Given the description of an element on the screen output the (x, y) to click on. 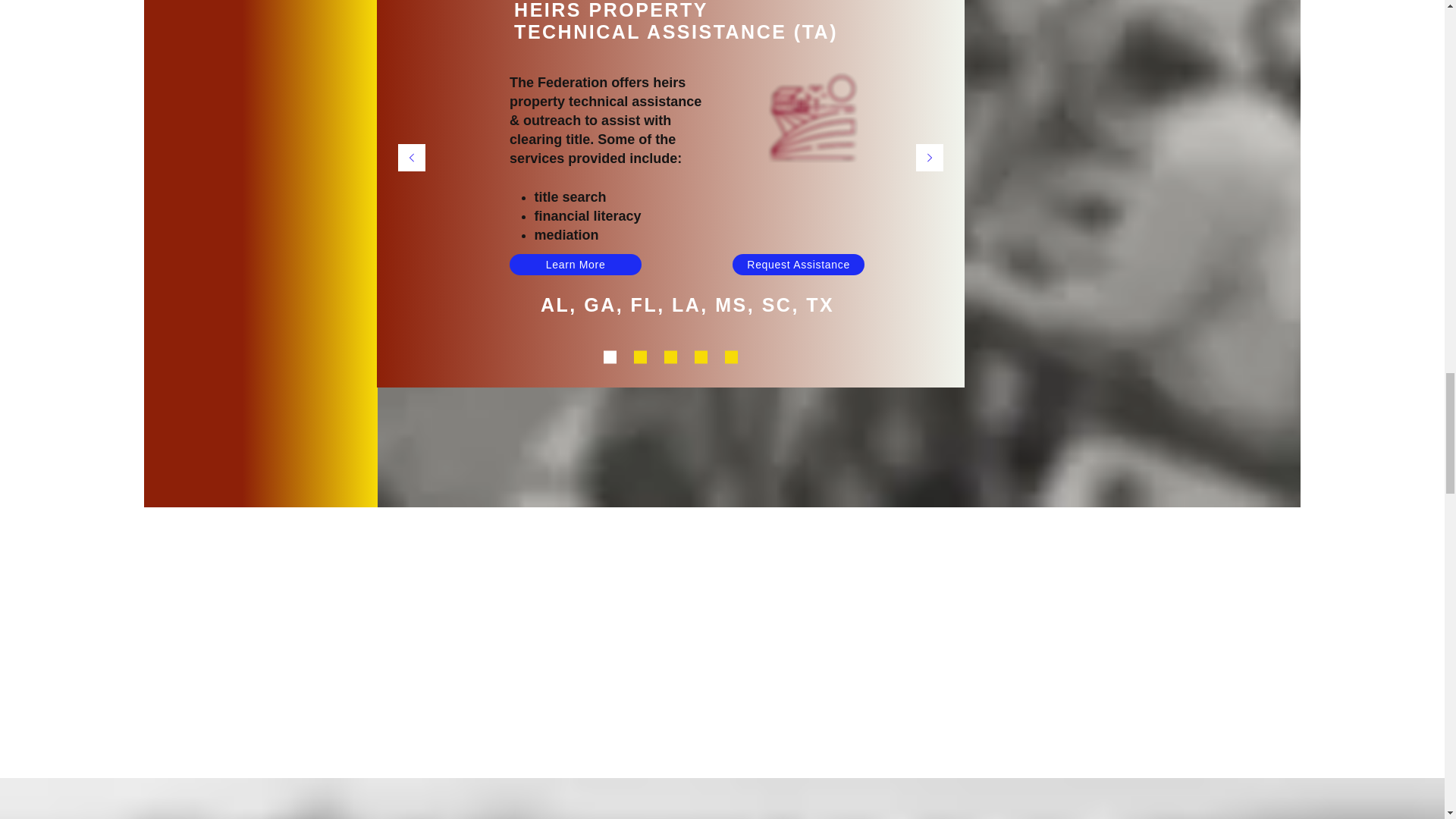
Learn More (575, 264)
Request Assistance (798, 264)
